Given the description of an element on the screen output the (x, y) to click on. 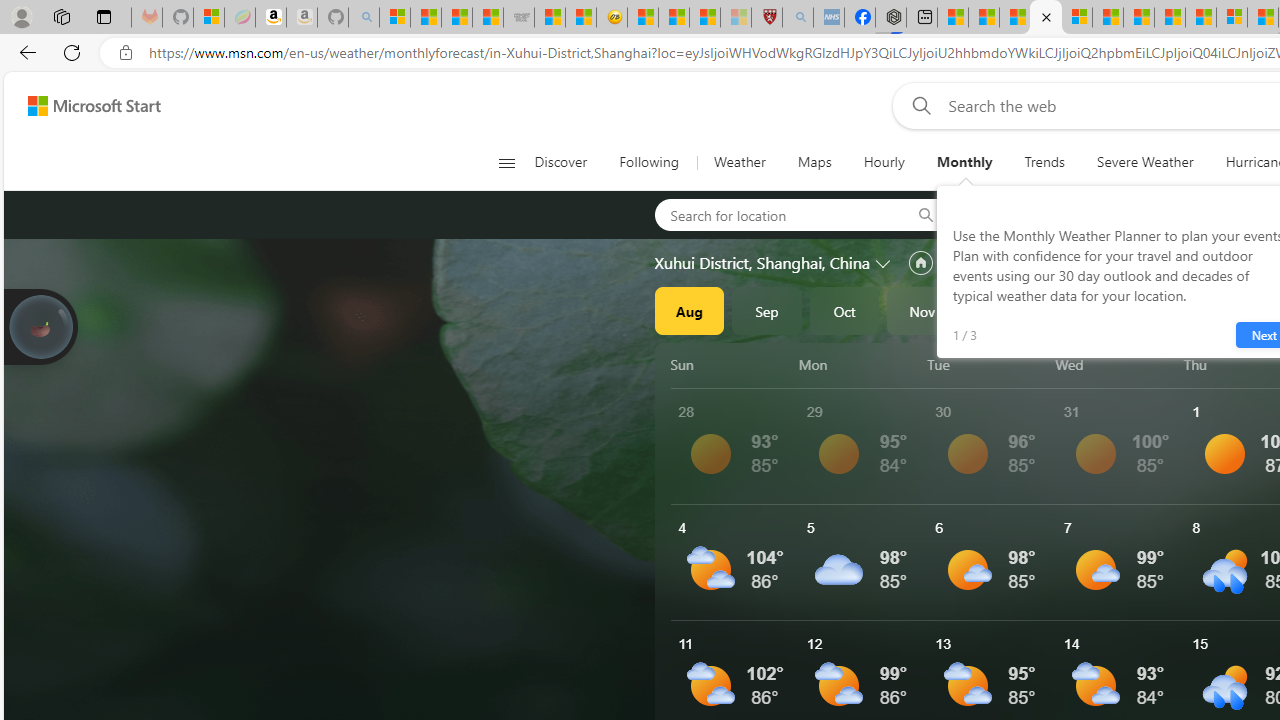
Aug (689, 310)
Recipes - MSN (642, 17)
Maps (814, 162)
Monthly (964, 162)
Remove location (1149, 214)
Trends (1044, 162)
